Given the description of an element on the screen output the (x, y) to click on. 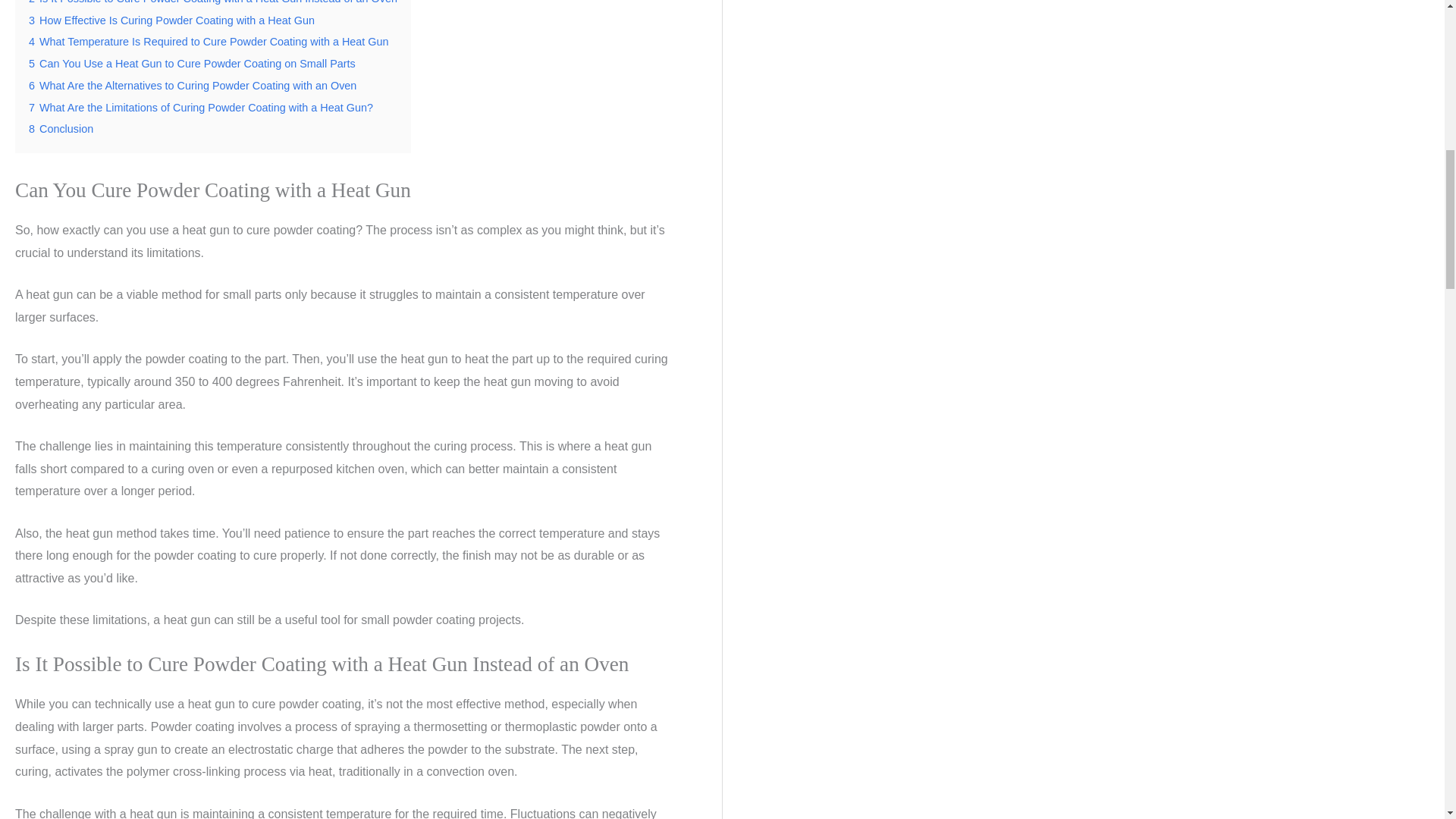
8 Conclusion (61, 128)
3 How Effective Is Curing Powder Coating with a Heat Gun (171, 20)
